Given the description of an element on the screen output the (x, y) to click on. 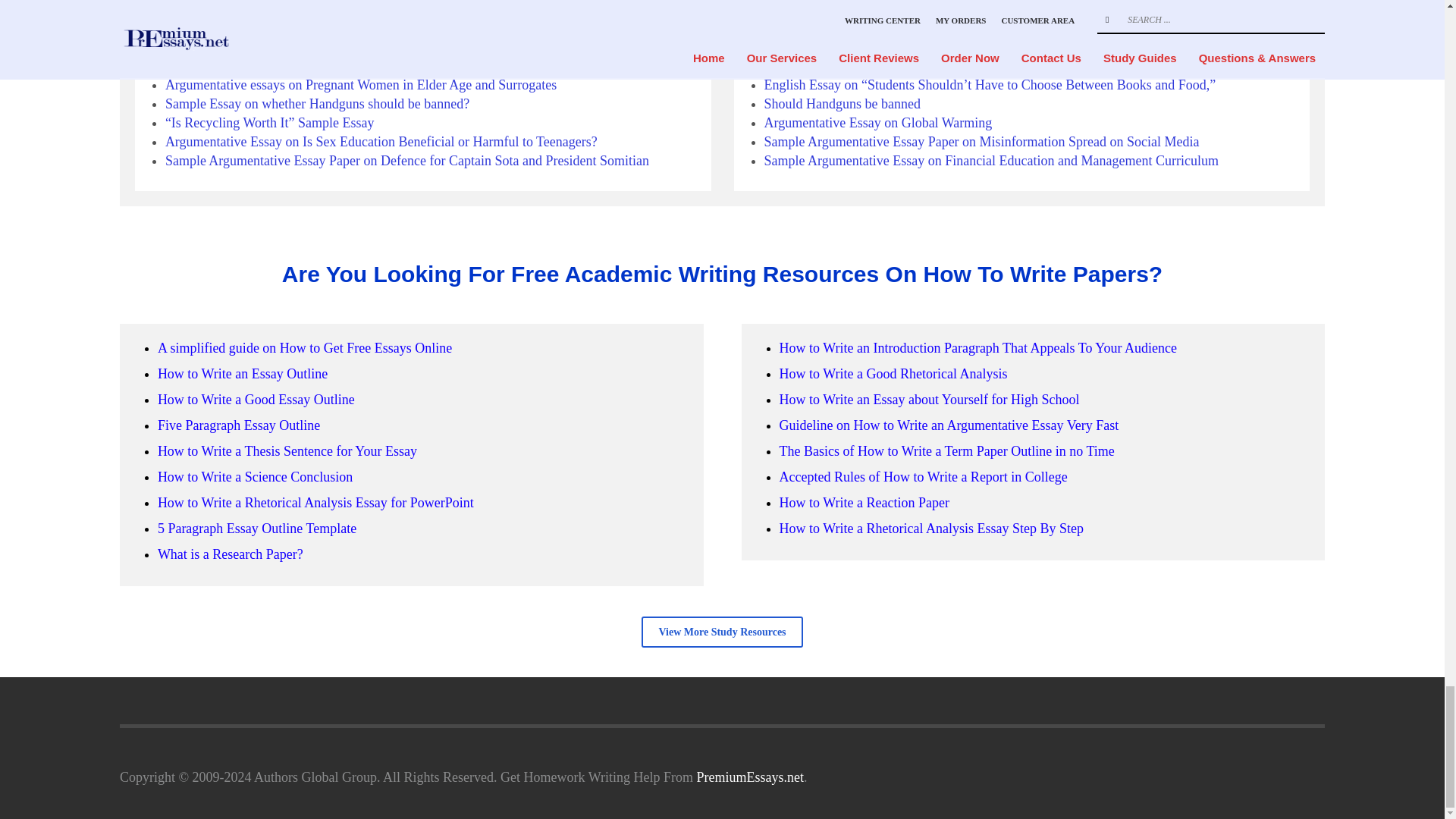
Sample Essay on whether Handguns should be banned? (316, 103)
Argumentative essays on Fuel Cells (263, 8)
Argumentative Essay on Death Penalty Focus Organization (327, 65)
Should Handguns be banned (243, 46)
